Given the description of an element on the screen output the (x, y) to click on. 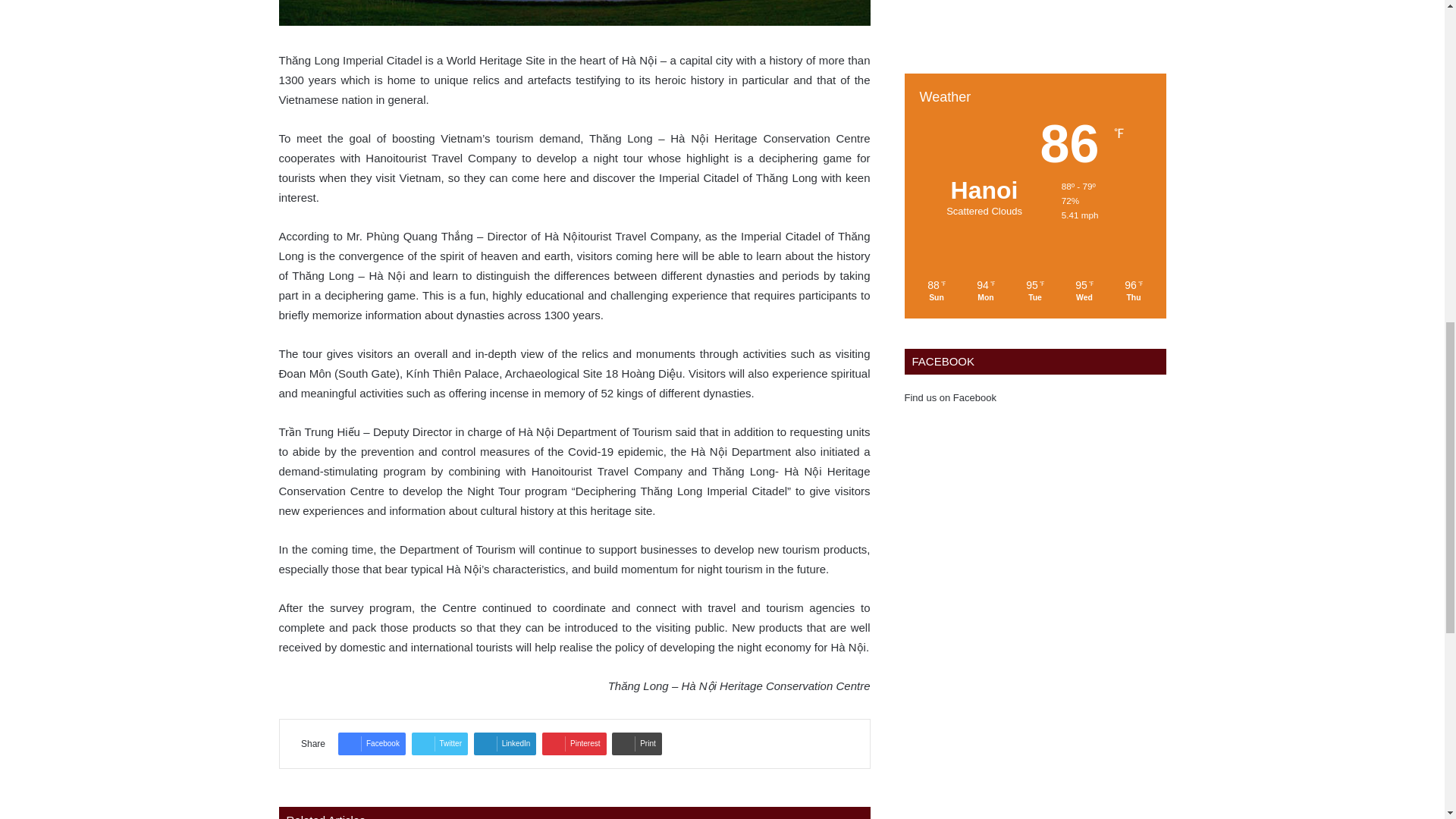
Print (636, 743)
Twitter (439, 743)
LinkedIn (505, 743)
Pinterest (573, 743)
Facebook (371, 743)
